Given the description of an element on the screen output the (x, y) to click on. 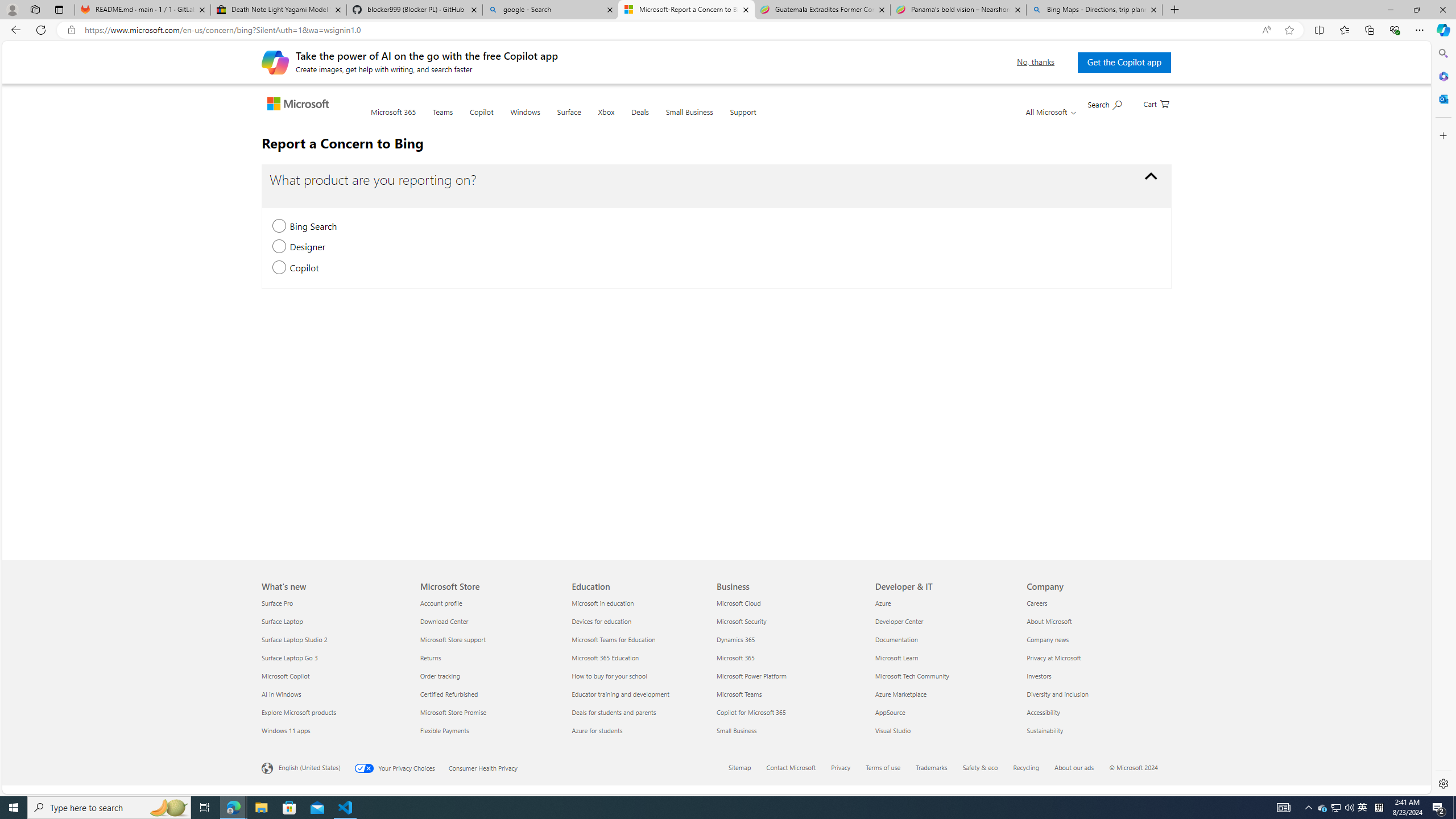
AI in Windows What's new (281, 693)
Microsoft Store support (489, 638)
AppSource (944, 711)
How to buy for your school Education (609, 675)
How to buy for your school (641, 675)
Explore Microsoft products What's new (299, 711)
Company news (1095, 638)
Sustainability (1095, 730)
Microsoft Tech Community Developer & IT (912, 675)
Educator training and development Education (620, 693)
Microsoft Learn Developer & IT (896, 656)
Support (743, 118)
